Given the description of an element on the screen output the (x, y) to click on. 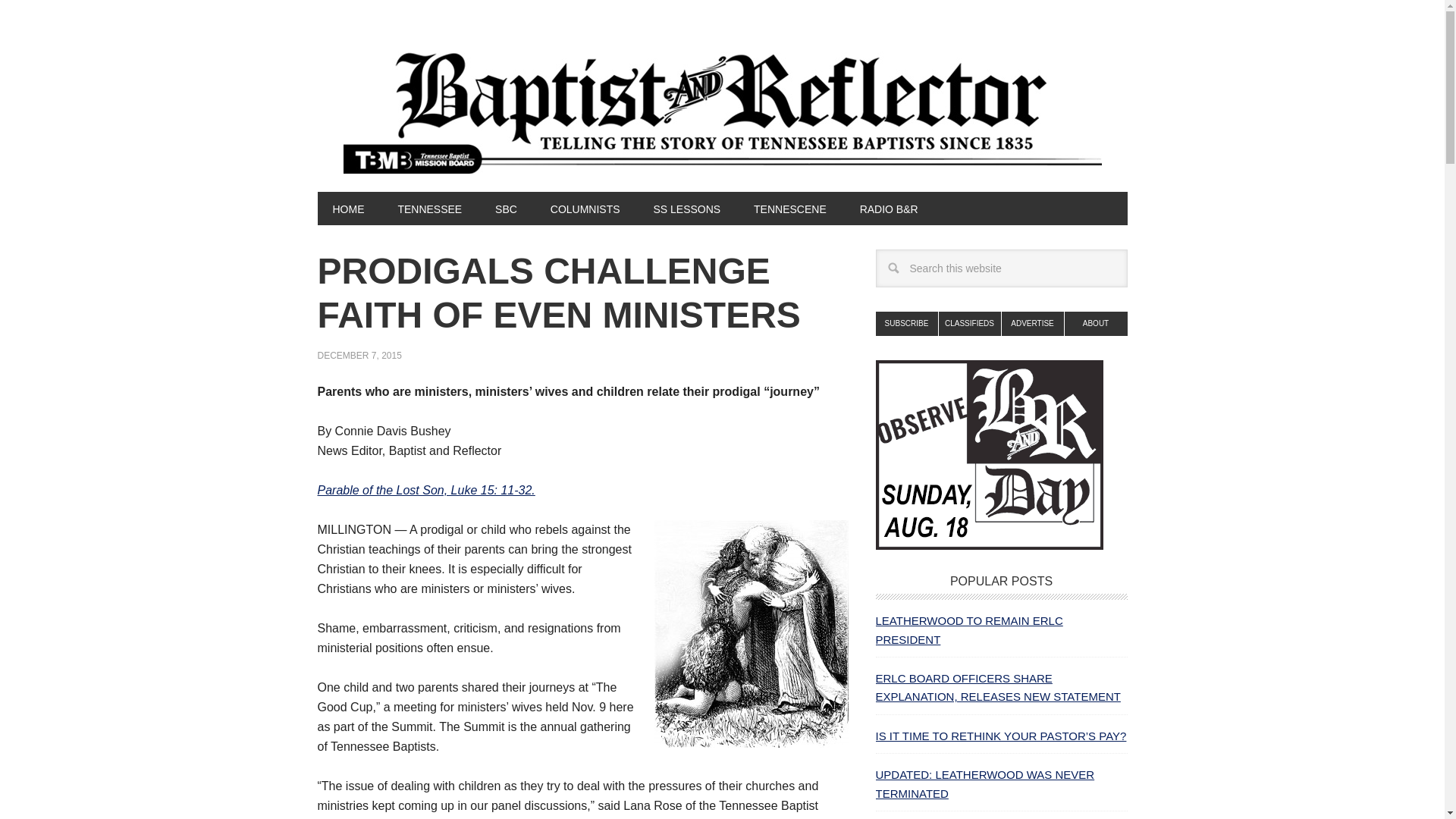
Parable of the Lost Son, Luke 15: 11-32. (425, 490)
TENNESSEE (429, 208)
SBC (506, 208)
SS LESSONS (686, 208)
ABOUT (1095, 323)
CLASSIFIEDS (970, 323)
TENNESCENE (789, 208)
ADVERTISE (1032, 323)
COLUMNISTS (584, 208)
SUBSCRIBE (906, 323)
HOME (347, 208)
